Given the description of an element on the screen output the (x, y) to click on. 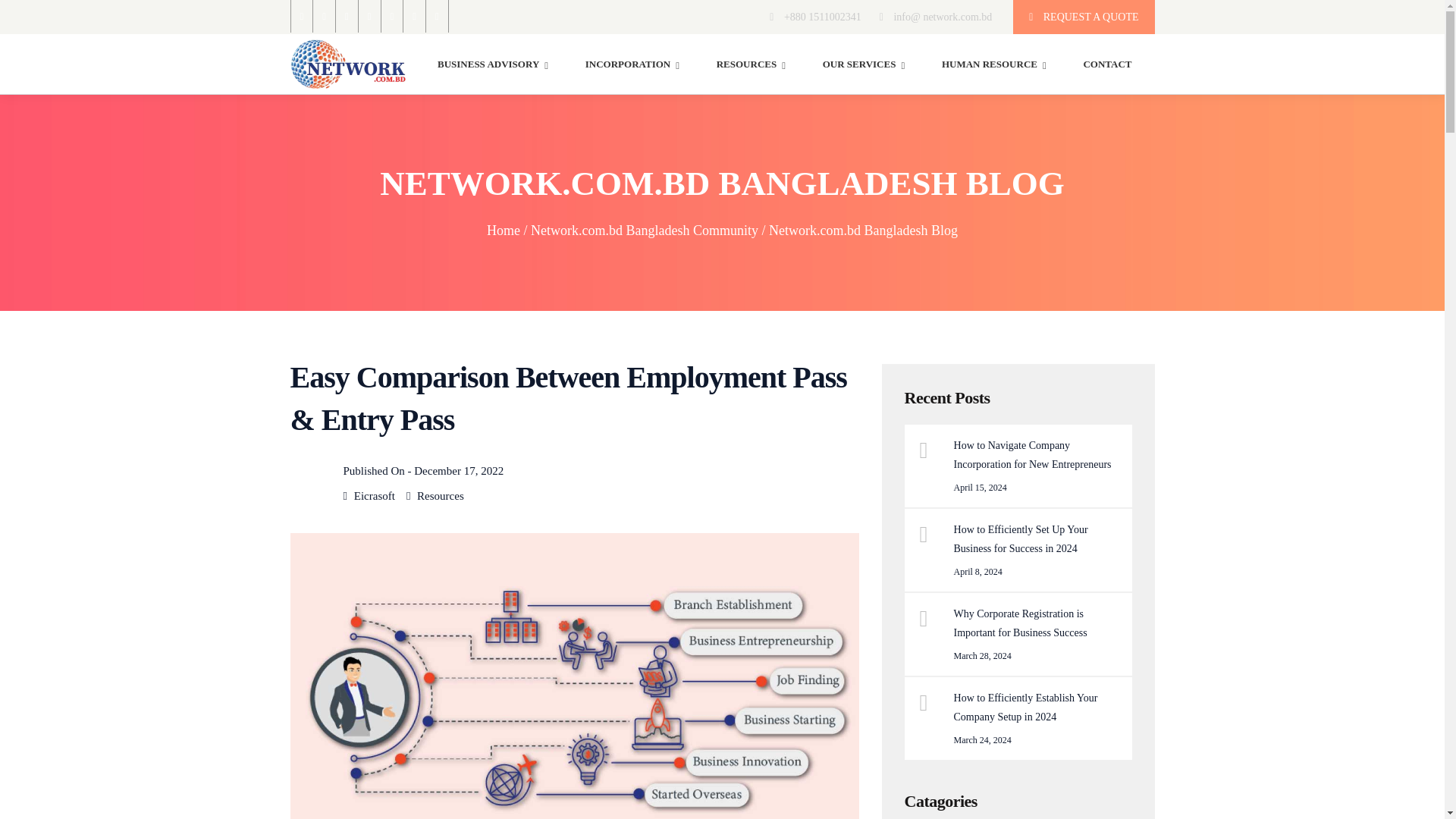
BUSINESS ADVISORY (493, 64)
INCORPORATION (632, 64)
REQUEST A QUOTE (1083, 17)
